Given the description of an element on the screen output the (x, y) to click on. 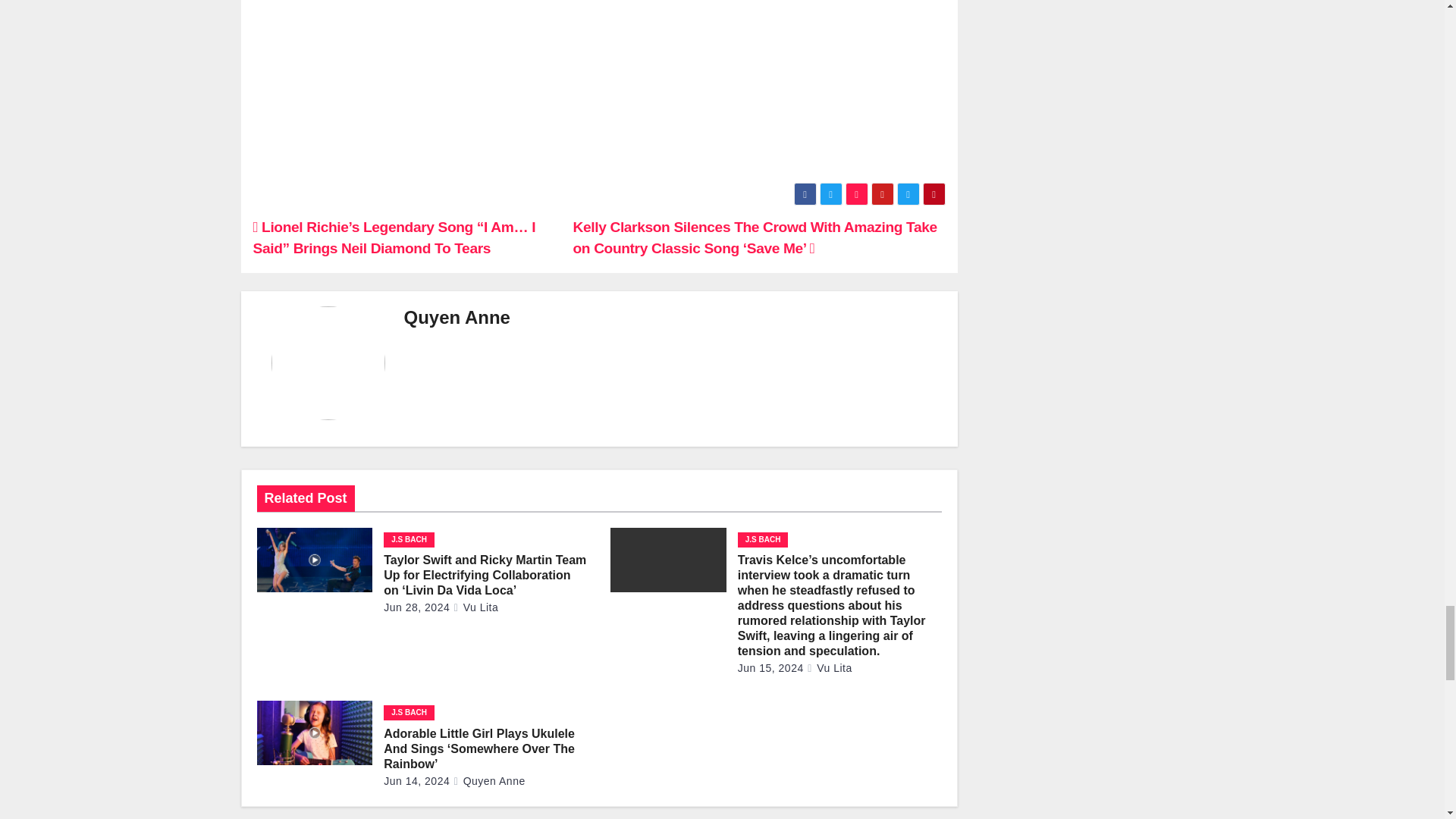
Vu Lita (475, 607)
Jun 15, 2024 (770, 667)
Quyen Anne (488, 780)
Vu Lita (828, 667)
Jun 14, 2024 (416, 780)
Jun 28, 2024 (416, 607)
J.S BACH (763, 539)
J.S BACH (408, 539)
J.S BACH (408, 712)
Quyen Anne (456, 317)
